Given the description of an element on the screen output the (x, y) to click on. 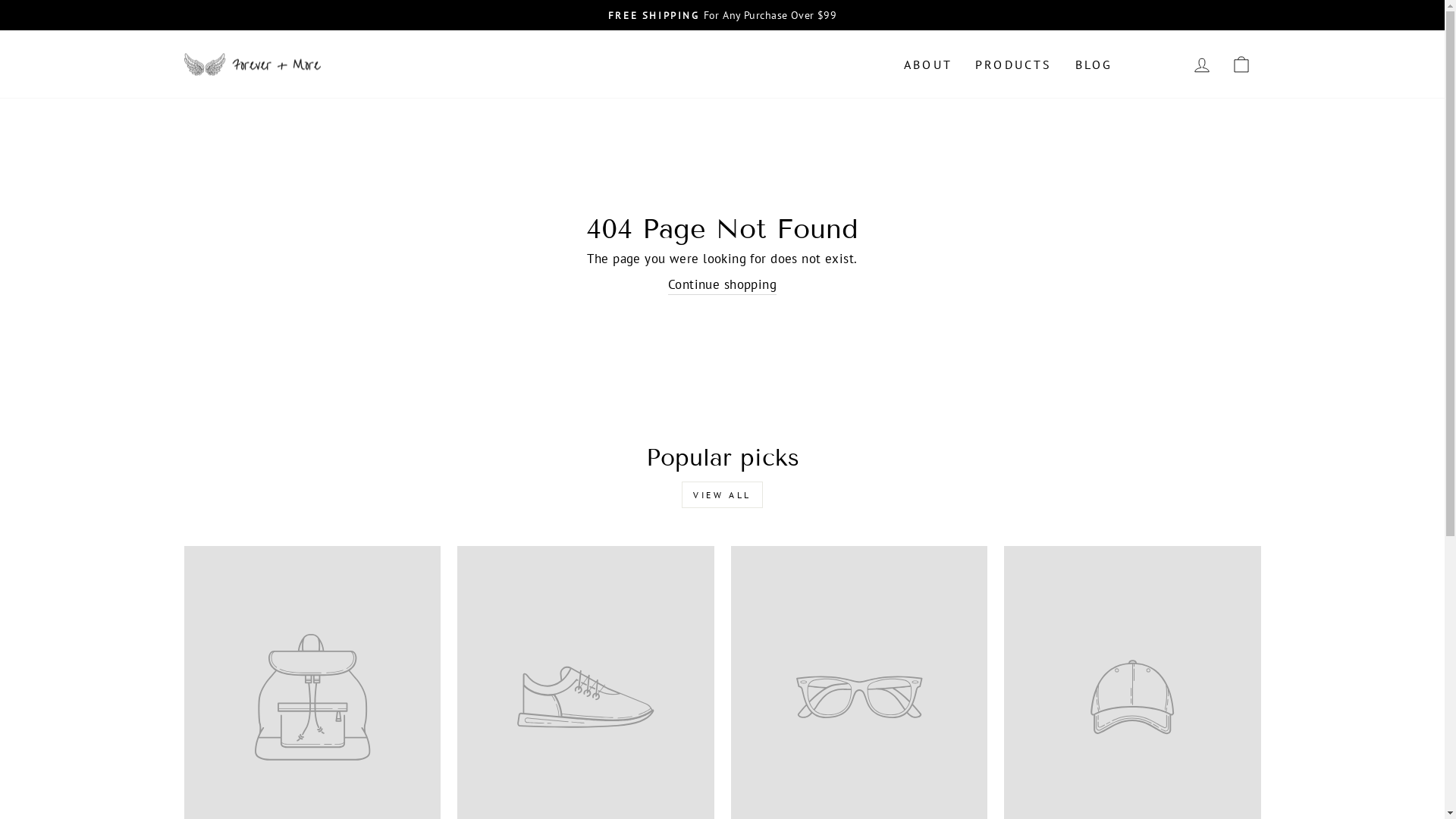
ABOUT Element type: text (927, 64)
PRODUCTS Element type: text (1013, 64)
BLOG Element type: text (1093, 64)
Skip to content Element type: text (0, 0)
CART Element type: text (1240, 63)
VIEW ALL Element type: text (721, 493)
LOG IN Element type: text (1200, 63)
Continue shopping Element type: text (722, 285)
